Given the description of an element on the screen output the (x, y) to click on. 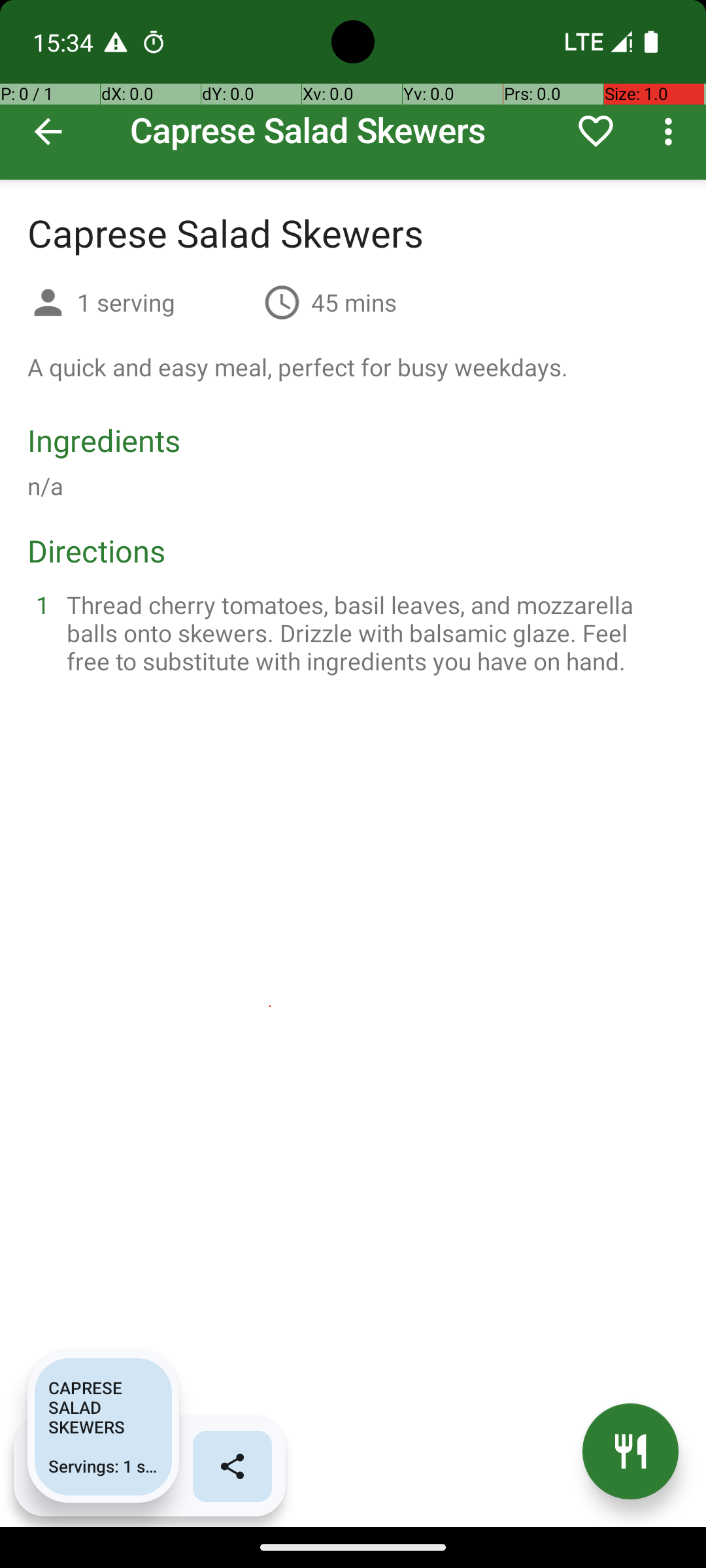
1 serving Element type: android.widget.TextView (164, 301)
45 mins Element type: android.widget.TextView (353, 301)
n/a Element type: android.widget.TextView (45, 485)
Thread cherry tomatoes, basil leaves, and mozzarella balls onto skewers. Drizzle with balsamic glaze. Feel free to substitute with ingredients you have on hand. Element type: android.widget.TextView (368, 632)
CAPRESE SALAD SKEWERS

Servings: 1 serving
Time: 45 mins

A quick and easy meal, perfect for busy weekdays.

Ingredients:
- n/a

Directions:
1. Thread cherry tomatoes, basil leaves, and mozzarella balls onto skewers. Drizzle with balsamic glaze. Feel free to substitute with ingredients you have on hand.

Shared with https://play.google.com/store/apps/details?id=com.flauschcode.broccoli Element type: android.widget.TextView (102, 1426)
